Given the description of an element on the screen output the (x, y) to click on. 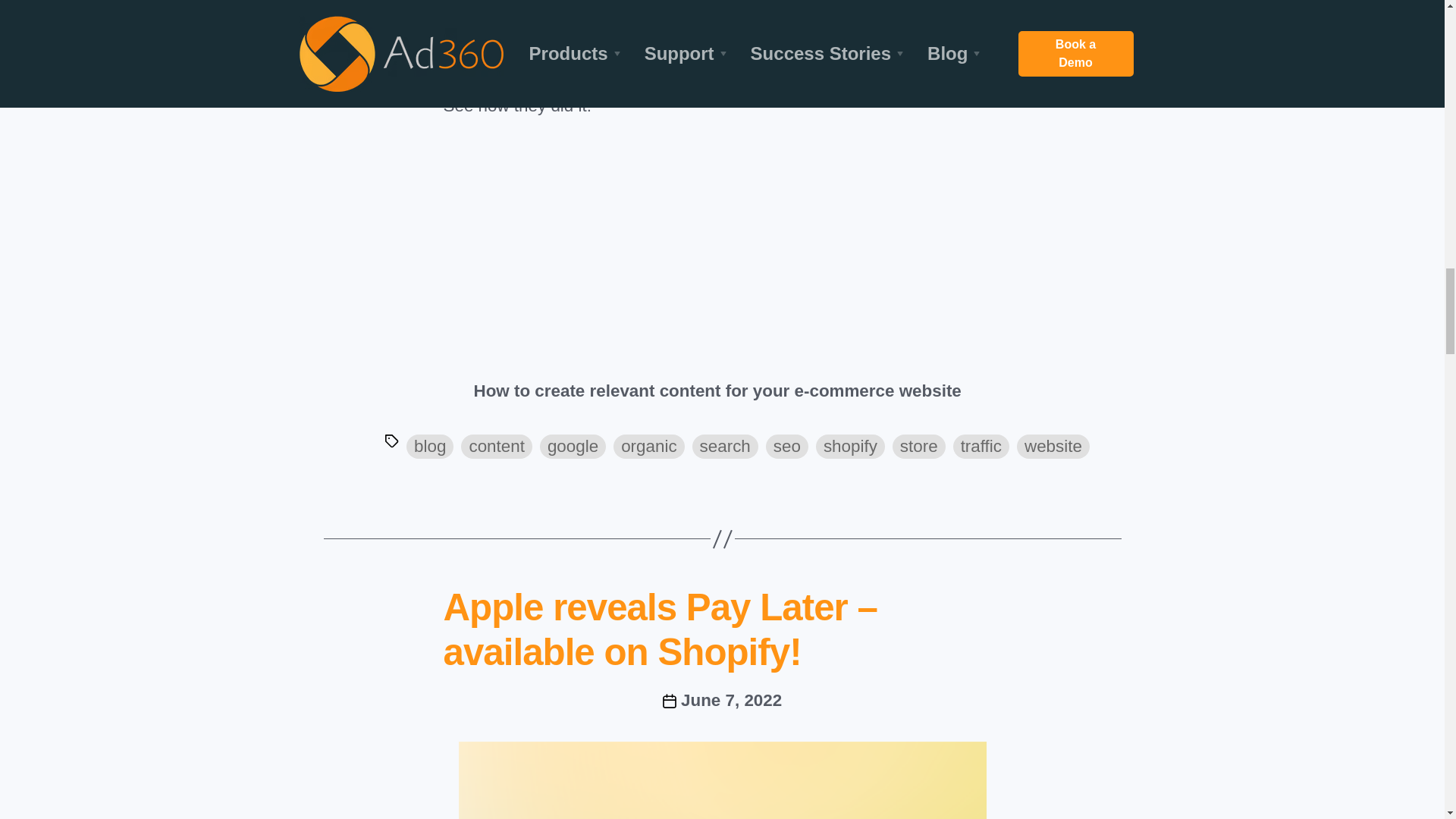
blog (429, 446)
content (496, 446)
How to create relevant content for your e-commerce website (692, 256)
